Given the description of an element on the screen output the (x, y) to click on. 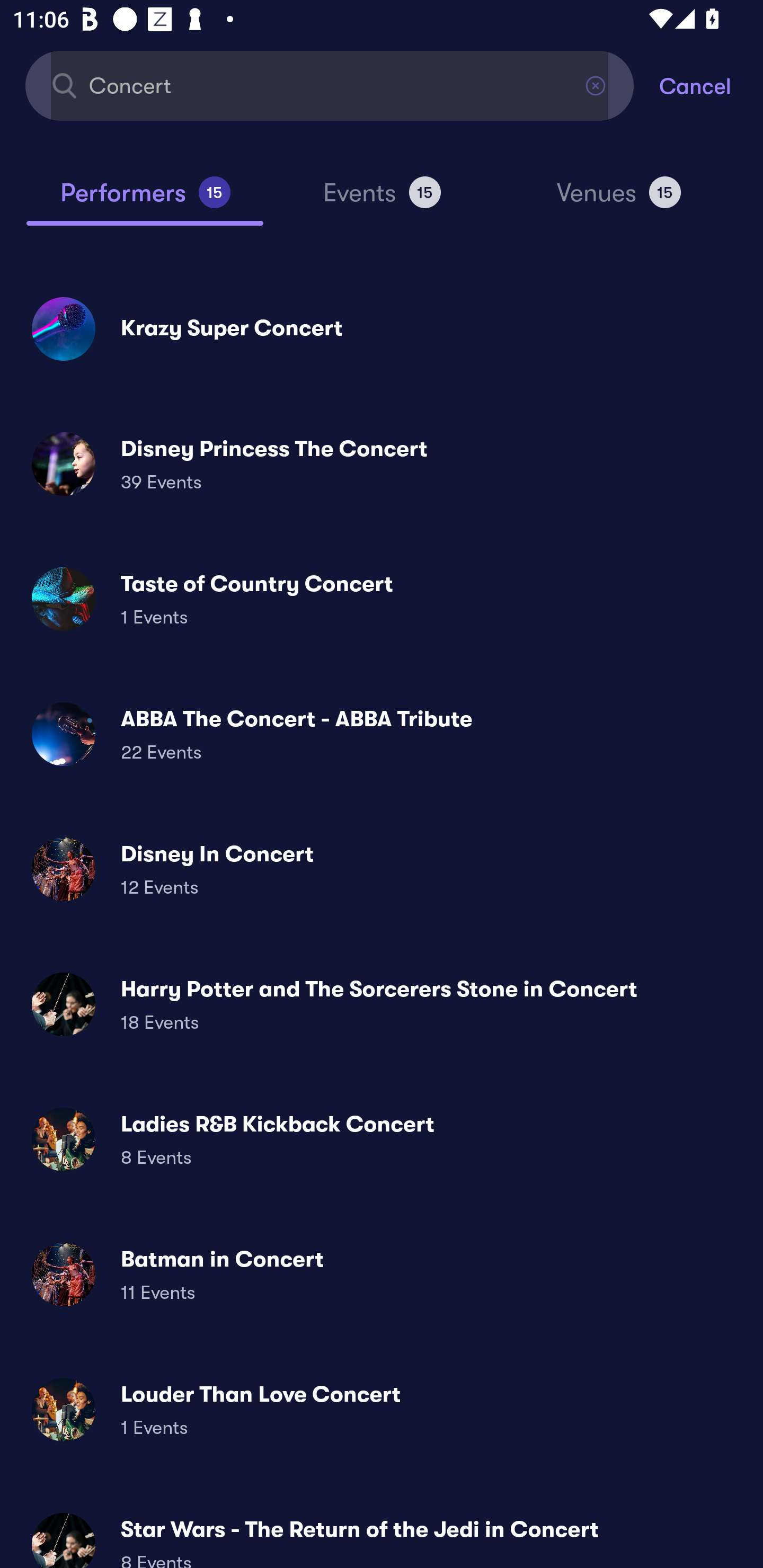
Concert Find (329, 85)
Concert Find (329, 85)
Cancel (711, 85)
Performers 15 (144, 200)
Events 15 (381, 200)
Venues 15 (618, 200)
Krazy Super Concert (381, 328)
Disney Princess The Concert 39 Events (381, 464)
Taste of Country Concert 1 Events (381, 598)
ABBA The Concert - ABBA Tribute 22 Events (381, 734)
Disney In Concert 12 Events (381, 869)
Ladies R&B Kickback Concert 8 Events (381, 1138)
Batman in Concert 11 Events (381, 1273)
Louder Than Love Concert 1 Events (381, 1409)
